Given the description of an element on the screen output the (x, y) to click on. 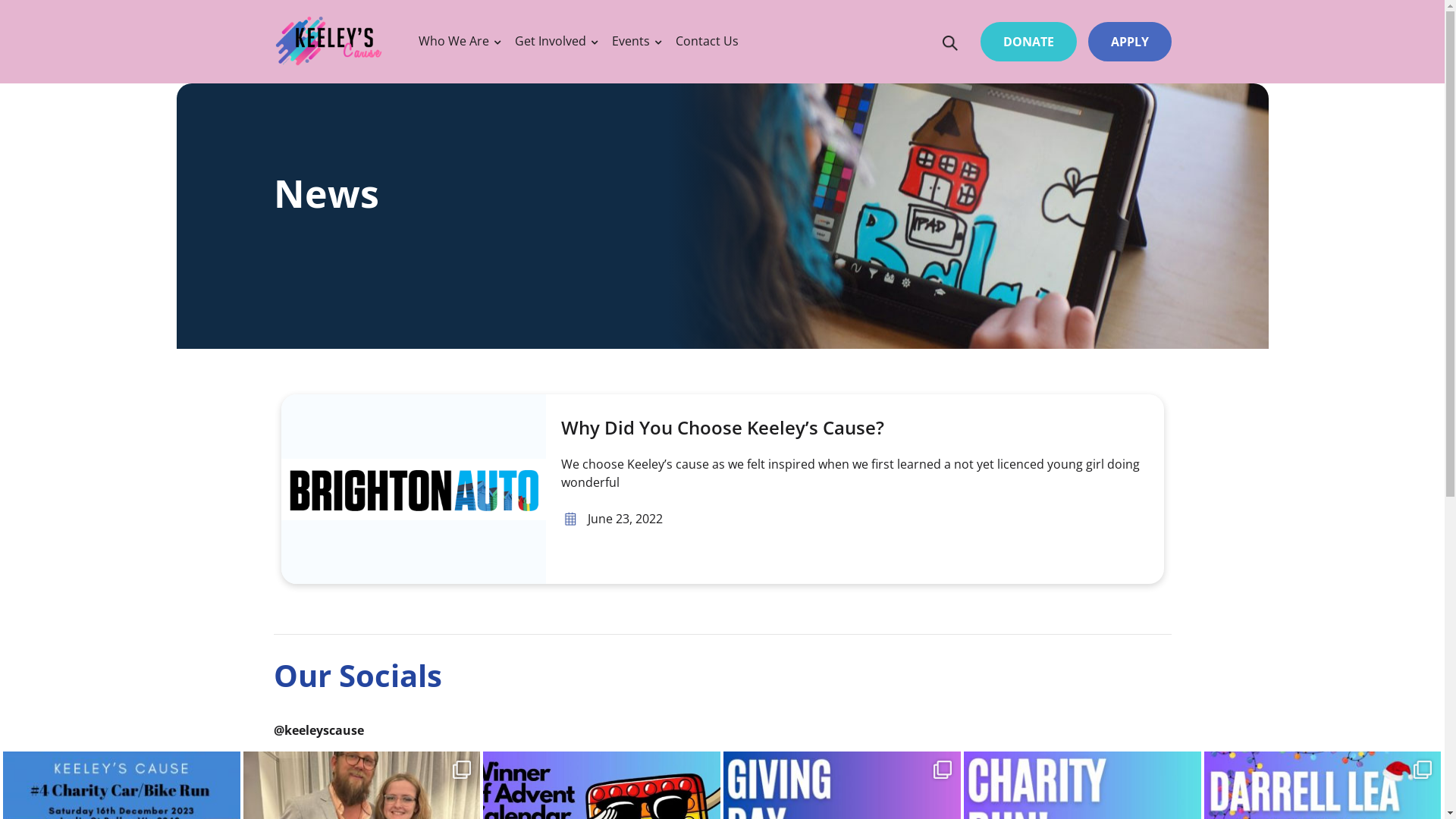
DONATE Element type: text (1027, 41)
Search Element type: text (949, 42)
APPLY Element type: text (1128, 41)
Get Involved Element type: text (550, 40)
Events Element type: text (630, 40)
Who We Are Element type: text (452, 40)
Contact Us Element type: text (706, 40)
